Given the description of an element on the screen output the (x, y) to click on. 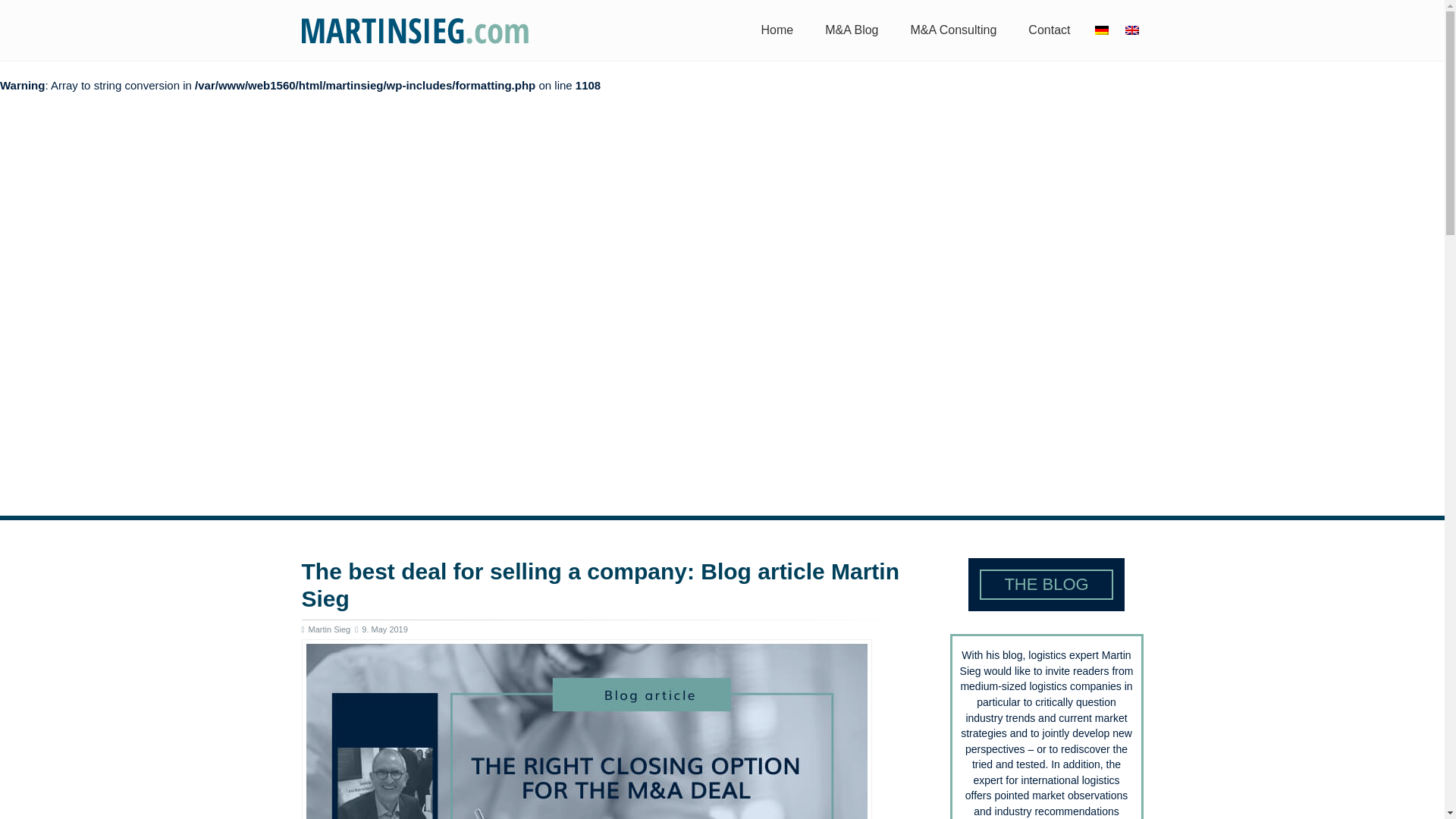
Martin Sieg (415, 31)
Contact (1048, 30)
Home (777, 30)
Home (777, 30)
Contact (1048, 30)
